Given the description of an element on the screen output the (x, y) to click on. 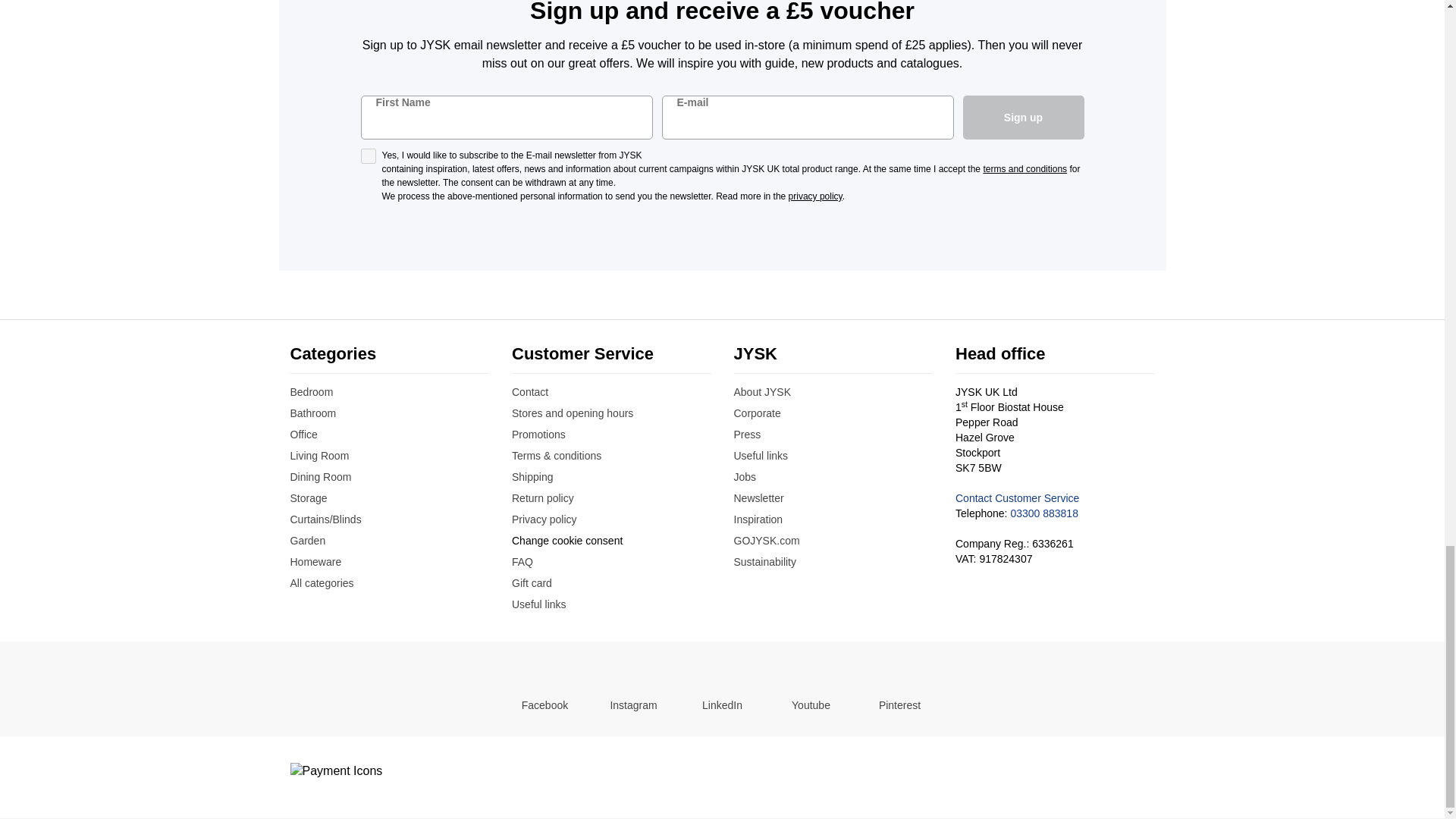
on (368, 155)
